Given the description of an element on the screen output the (x, y) to click on. 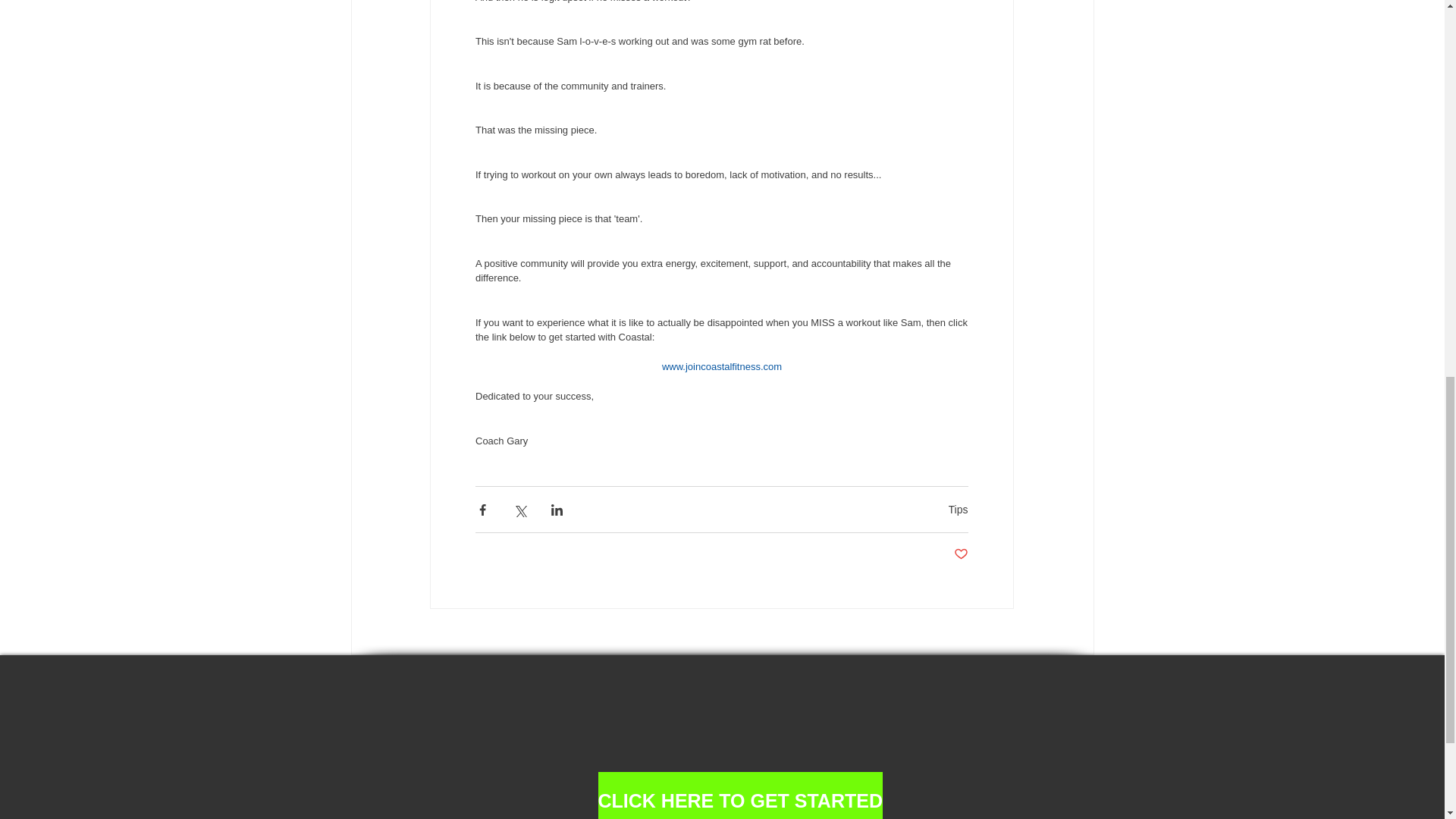
Post not marked as liked (960, 554)
CLICK HERE TO GET STARTED (739, 795)
Tips (958, 509)
www.joincoastalfitness.com (720, 366)
